Given the description of an element on the screen output the (x, y) to click on. 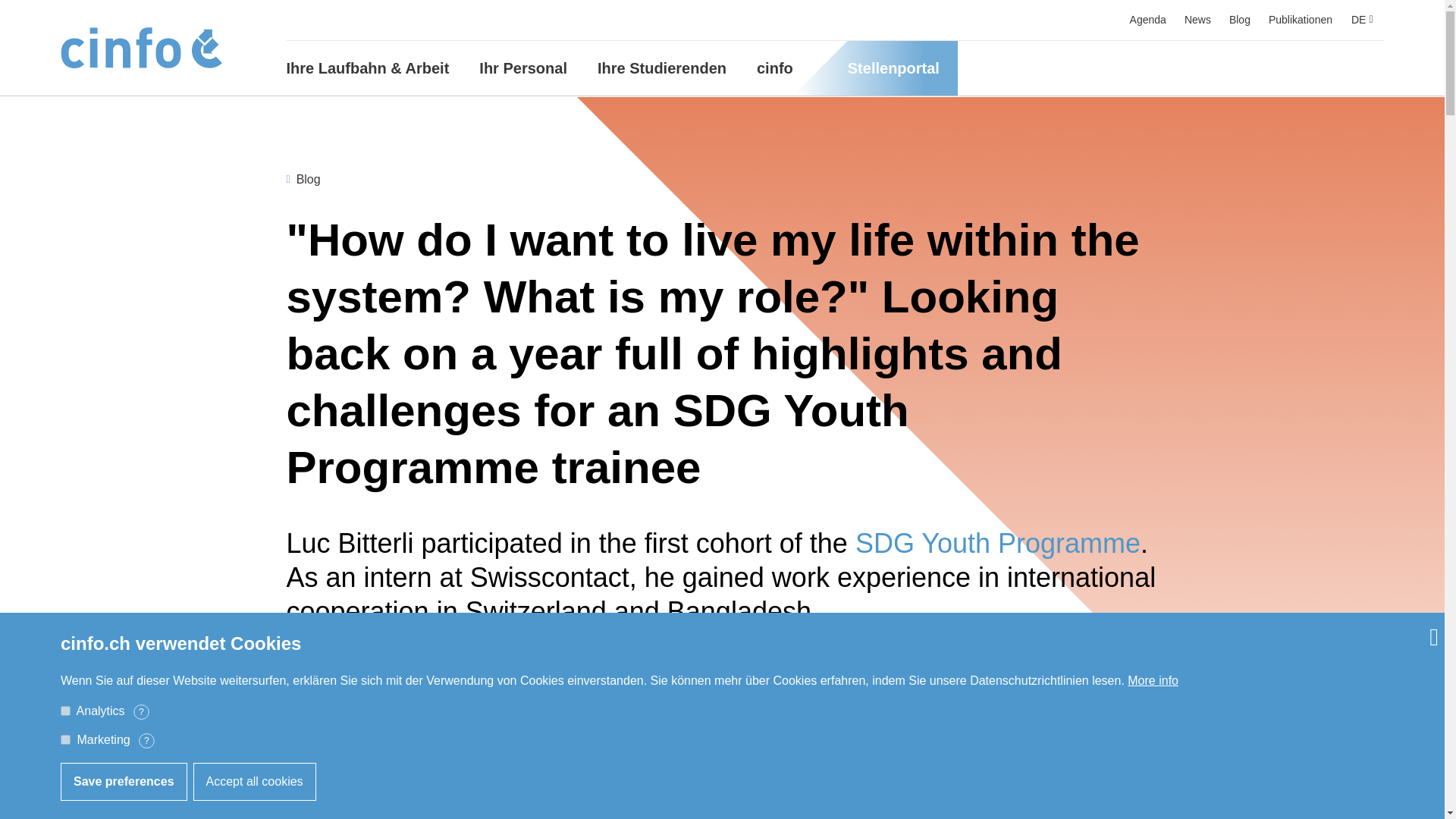
Stellenportal (902, 67)
marketing (65, 739)
analytics (65, 710)
SDG Youth Programme (998, 542)
Ihr Personal (523, 67)
Agenda (1147, 20)
Publikationen (1300, 20)
Ihre Studierenden (661, 67)
DE (1362, 18)
